Given the description of an element on the screen output the (x, y) to click on. 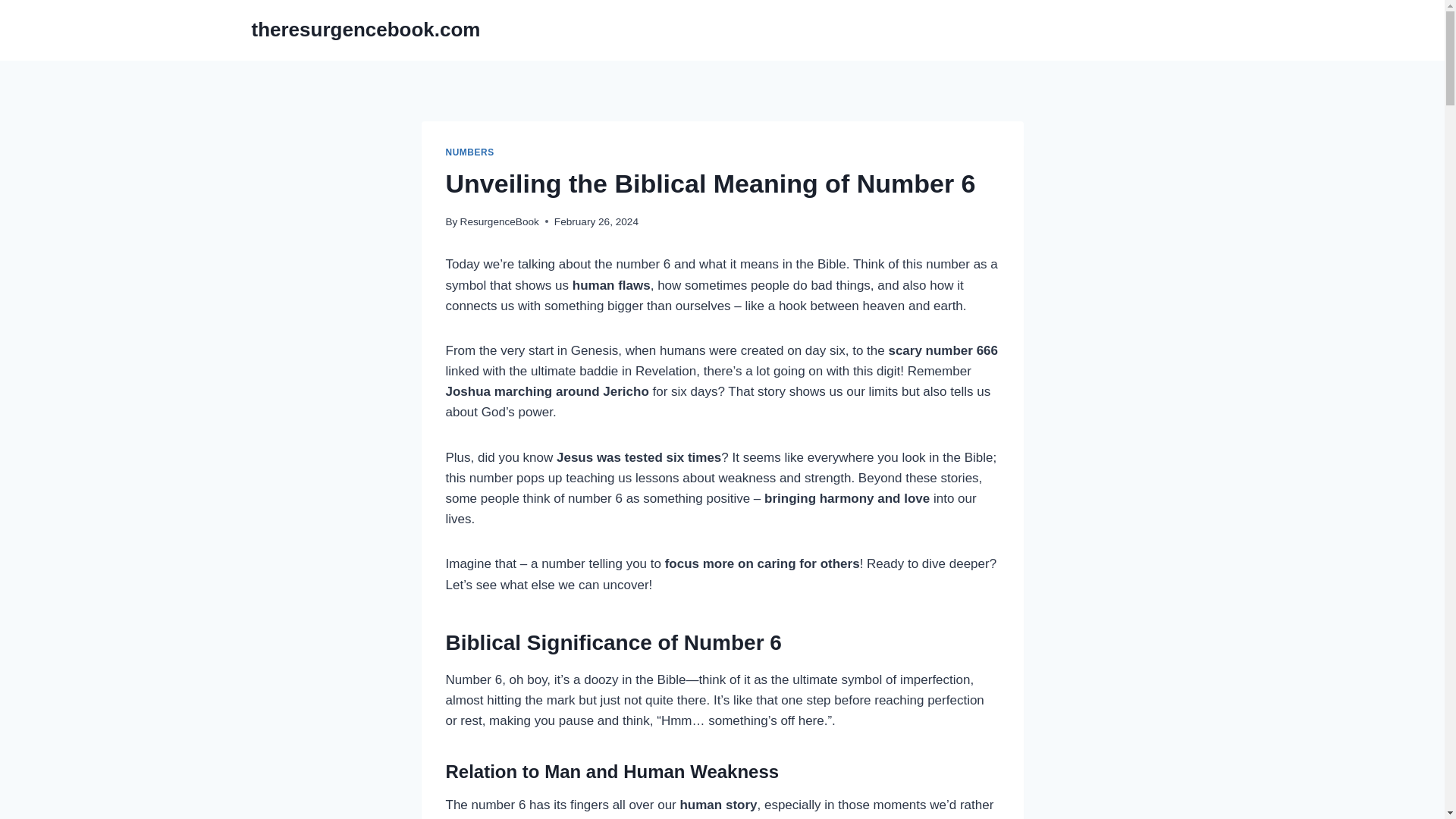
theresurgencebook.com (365, 29)
NUMBERS (470, 152)
ResurgenceBook (499, 221)
